Given the description of an element on the screen output the (x, y) to click on. 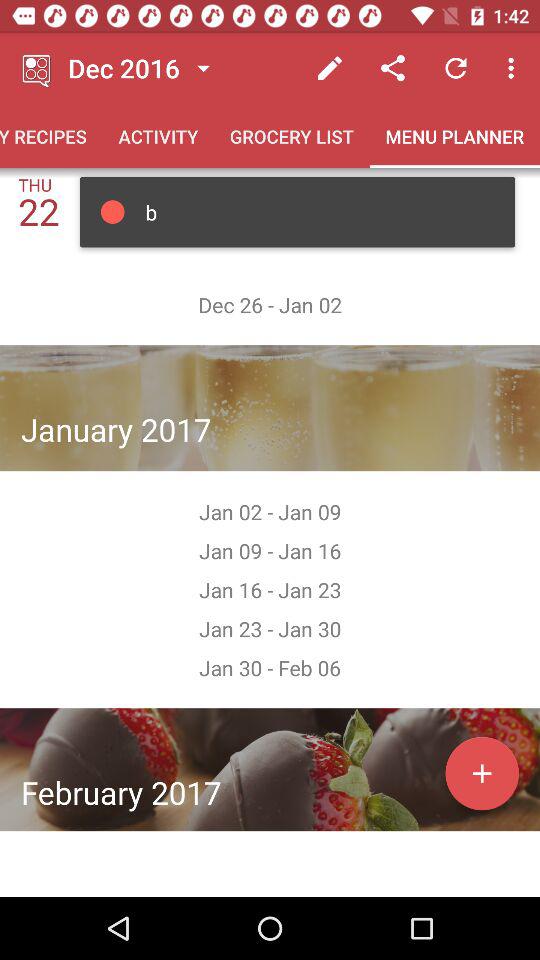
add plus (482, 773)
